Given the description of an element on the screen output the (x, y) to click on. 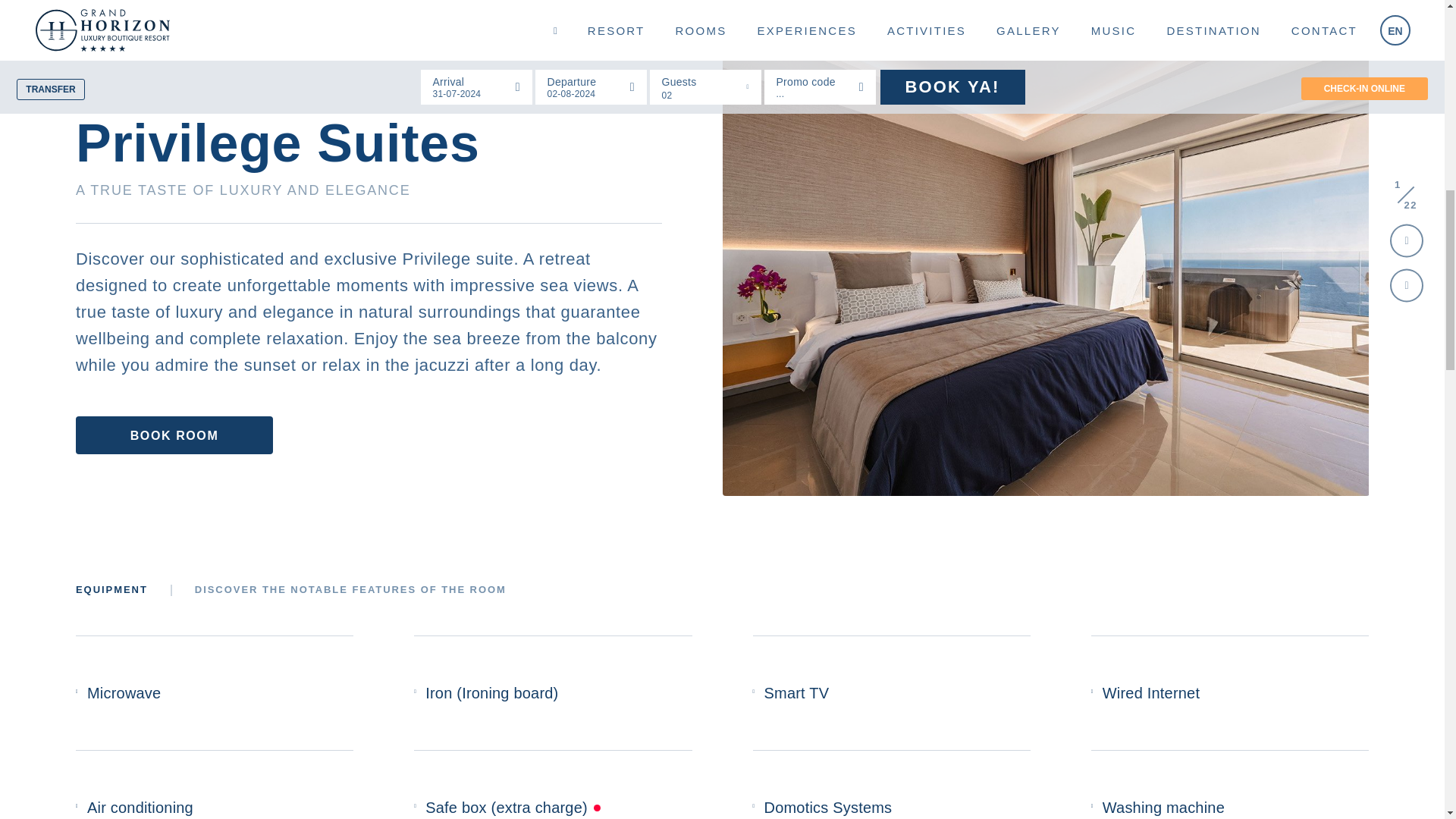
BOOK ROOM (174, 435)
